Given the description of an element on the screen output the (x, y) to click on. 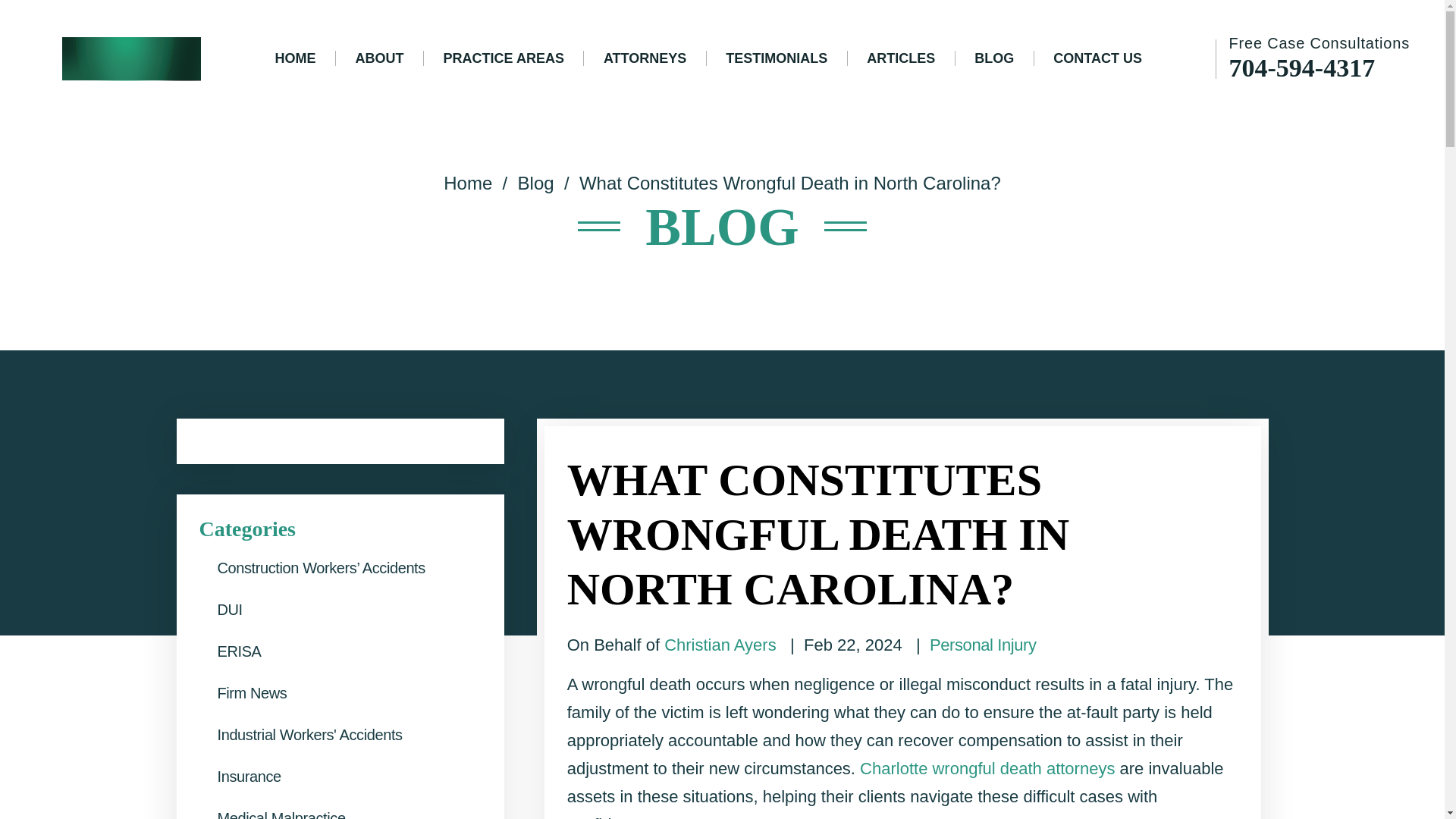
ABOUT (379, 58)
HOME (296, 58)
Go to Blog. (536, 182)
PRACTICE AREAS (503, 58)
